Given the description of an element on the screen output the (x, y) to click on. 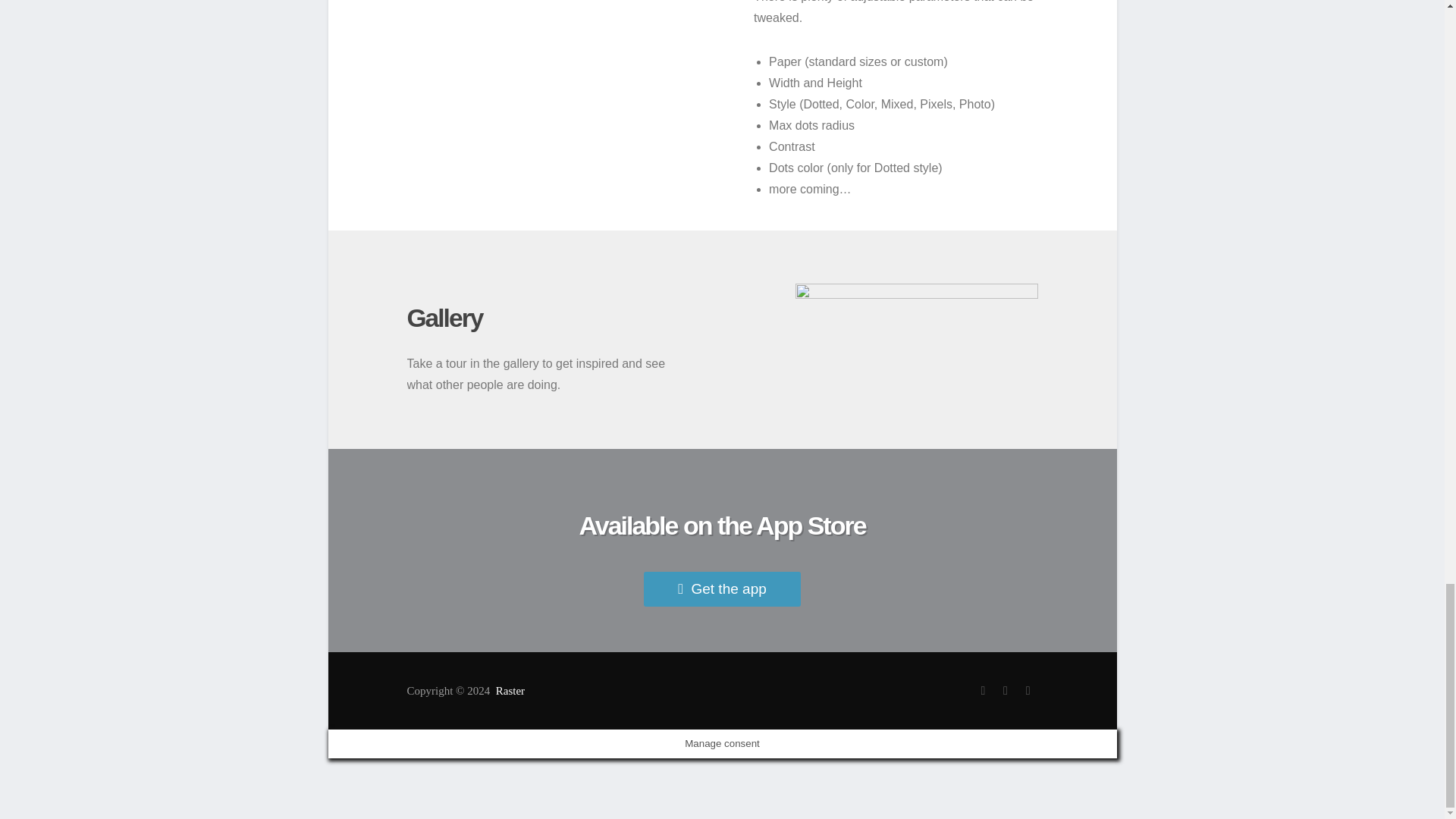
Raster (510, 690)
Get the app (721, 589)
